Given the description of an element on the screen output the (x, y) to click on. 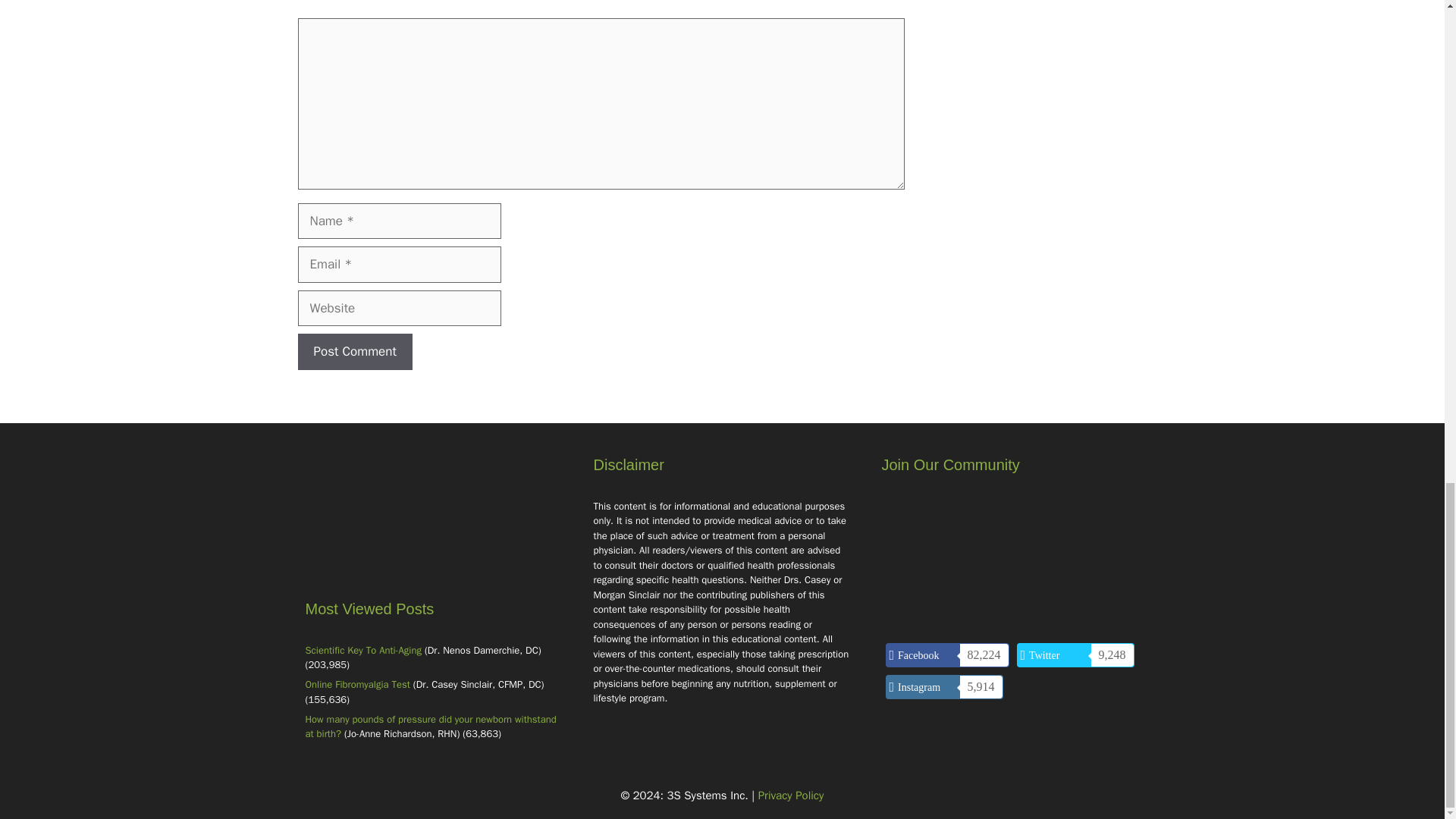
FHALogoWhite (433, 524)
Post Comment (354, 351)
Scroll back to top (1406, 347)
